Given the description of an element on the screen output the (x, y) to click on. 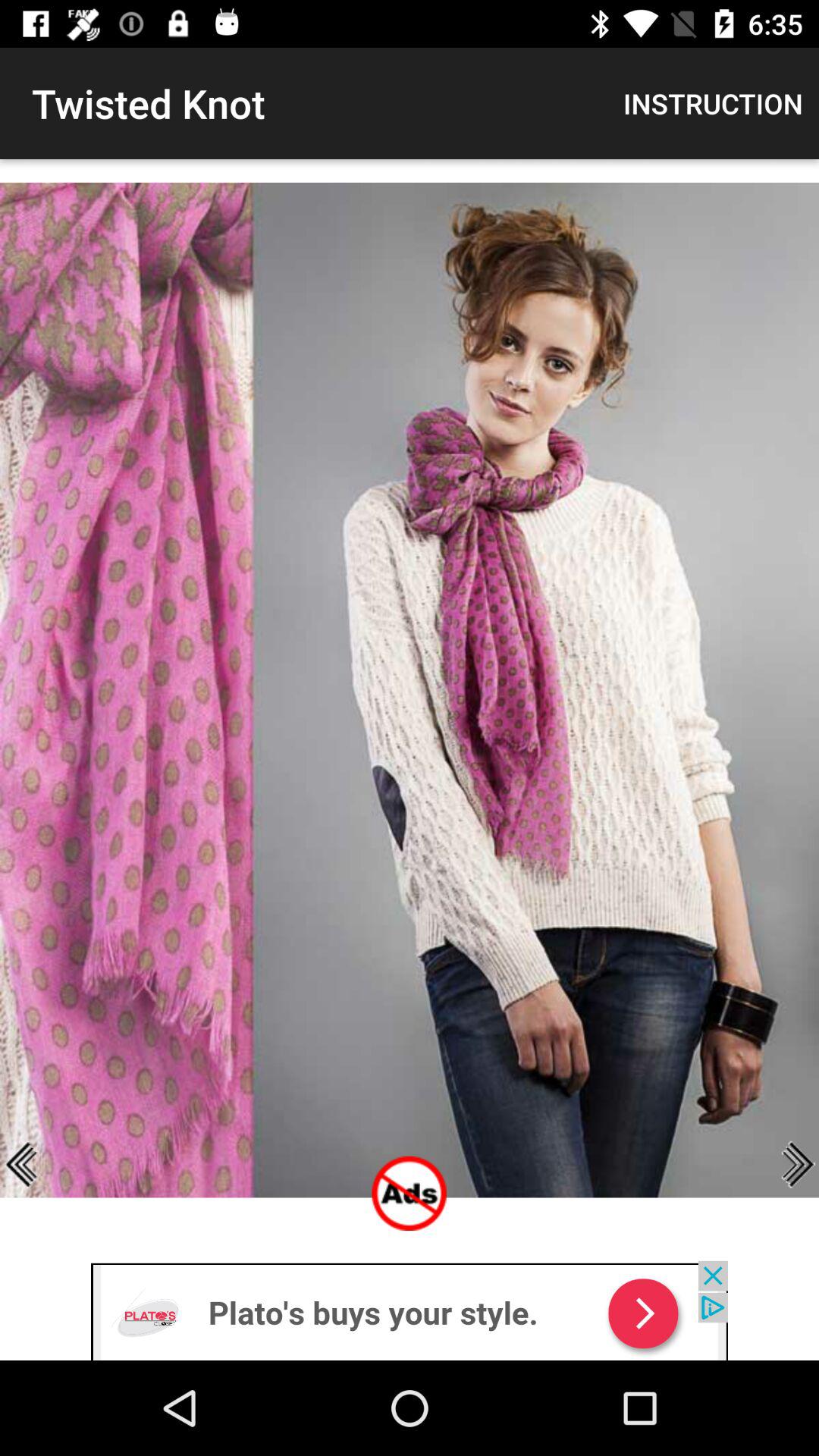
go to advertisement (409, 1310)
